Given the description of an element on the screen output the (x, y) to click on. 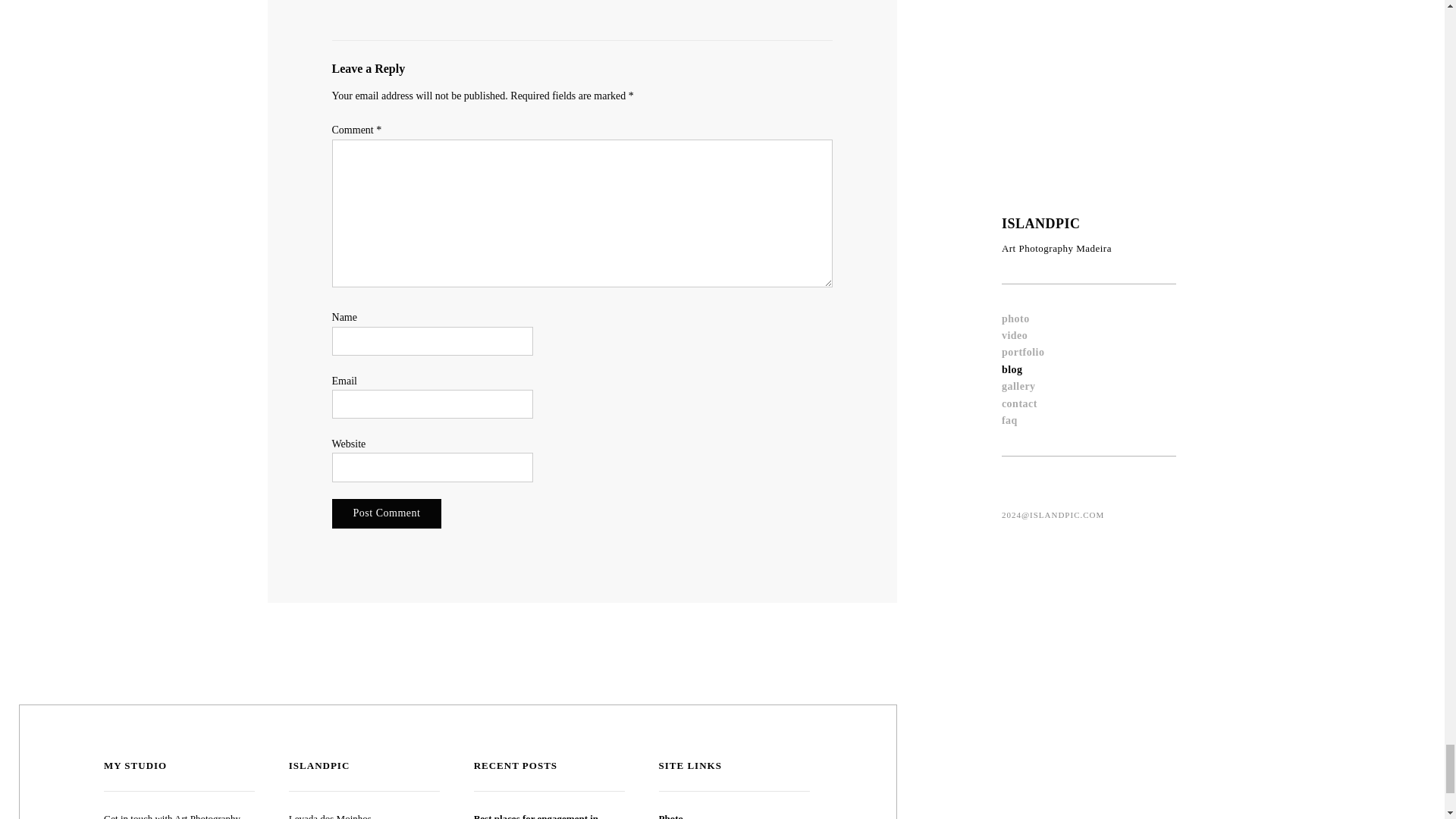
Post Comment (386, 513)
